Given the description of an element on the screen output the (x, y) to click on. 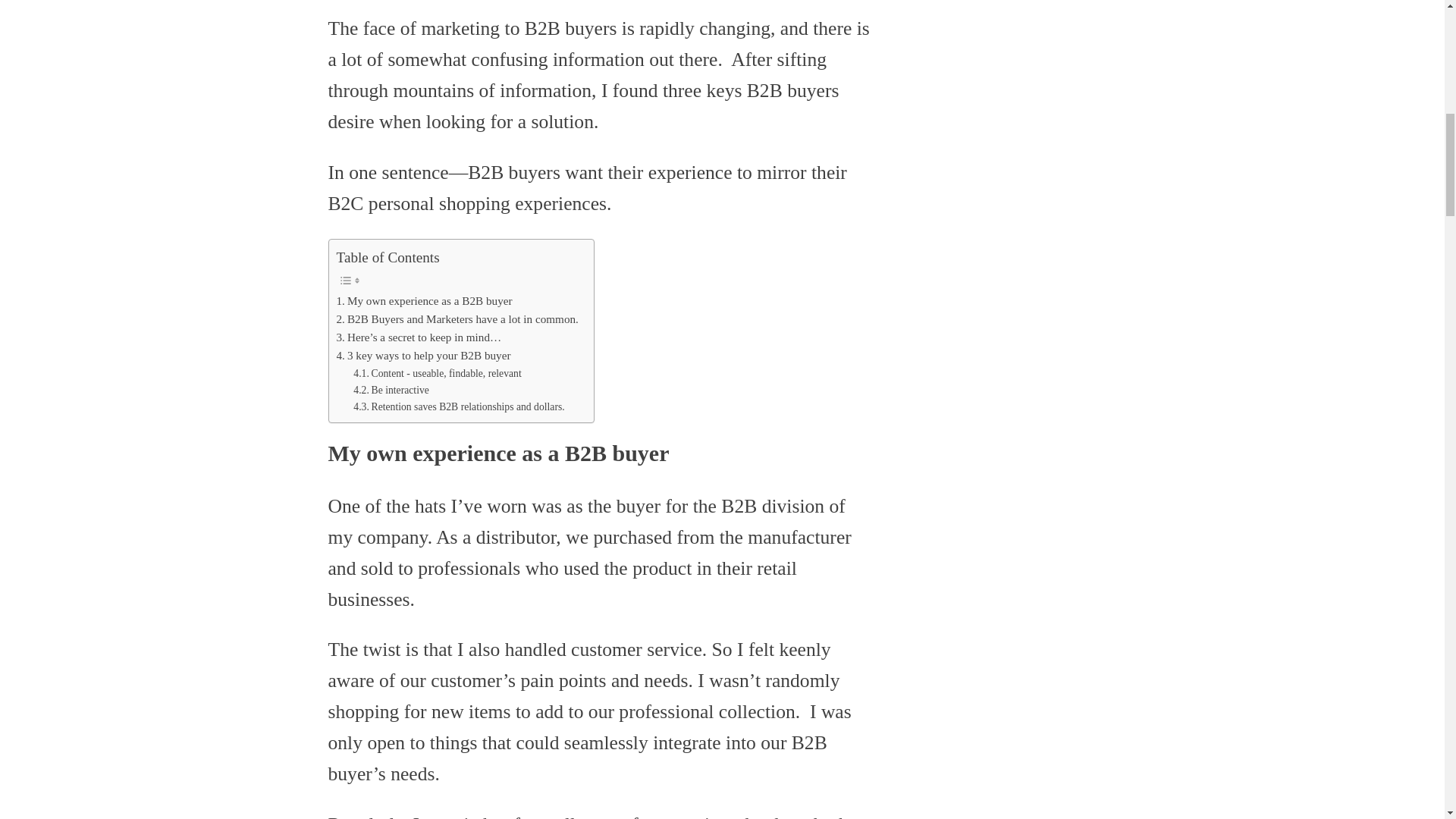
3 key ways to help your B2B buyer (423, 355)
Content - useable, findable, relevant (437, 373)
3 key ways to help your B2B buyer (423, 355)
Retention saves B2B relationships and dollars. (458, 406)
Content - useable, findable, relevant (437, 373)
B2B Buyers and Marketers have a lot in common. (457, 319)
B2B Buyers and Marketers have a lot in common. (457, 319)
Be interactive (391, 390)
My own experience as a B2B buyer (424, 300)
My own experience as a B2B buyer (424, 300)
